Given the description of an element on the screen output the (x, y) to click on. 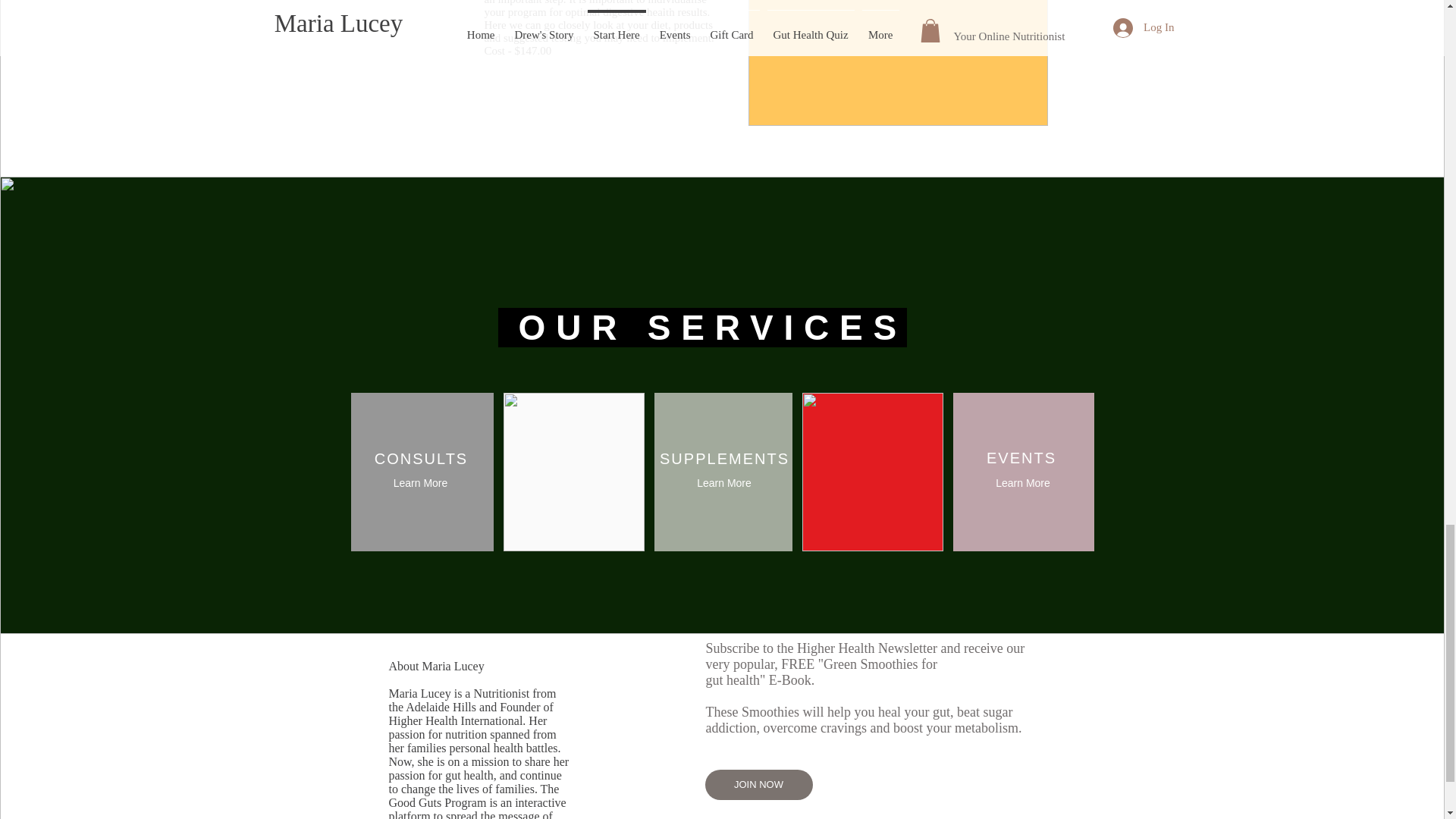
JOIN NOW (758, 784)
Learn More (1022, 483)
Learn More (419, 483)
